Given the description of an element on the screen output the (x, y) to click on. 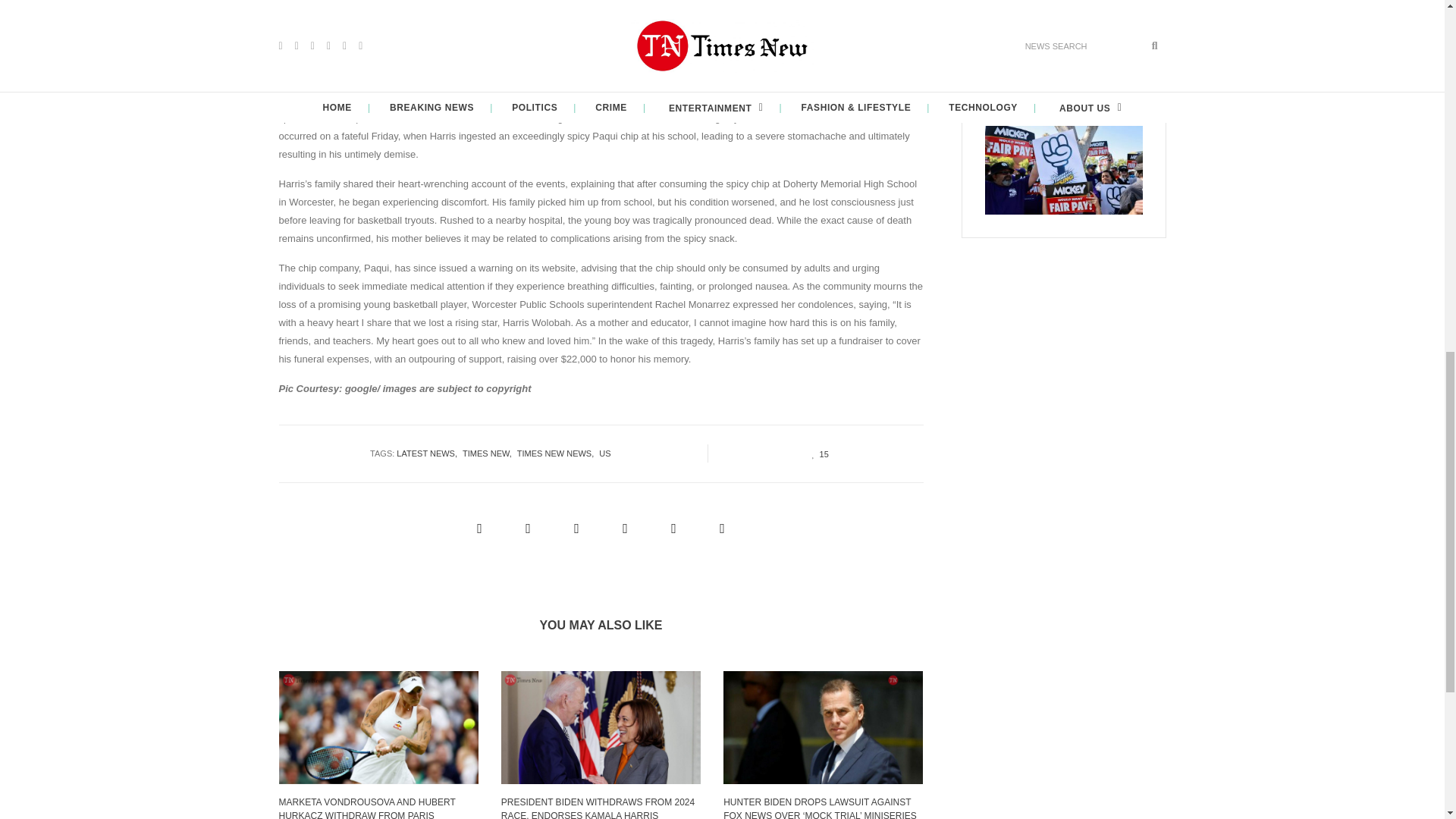
TIMES NEW (489, 453)
TIMES NEW NEWS (557, 453)
LATEST NEWS (429, 453)
15 (815, 452)
Like (815, 452)
US (606, 453)
